Given the description of an element on the screen output the (x, y) to click on. 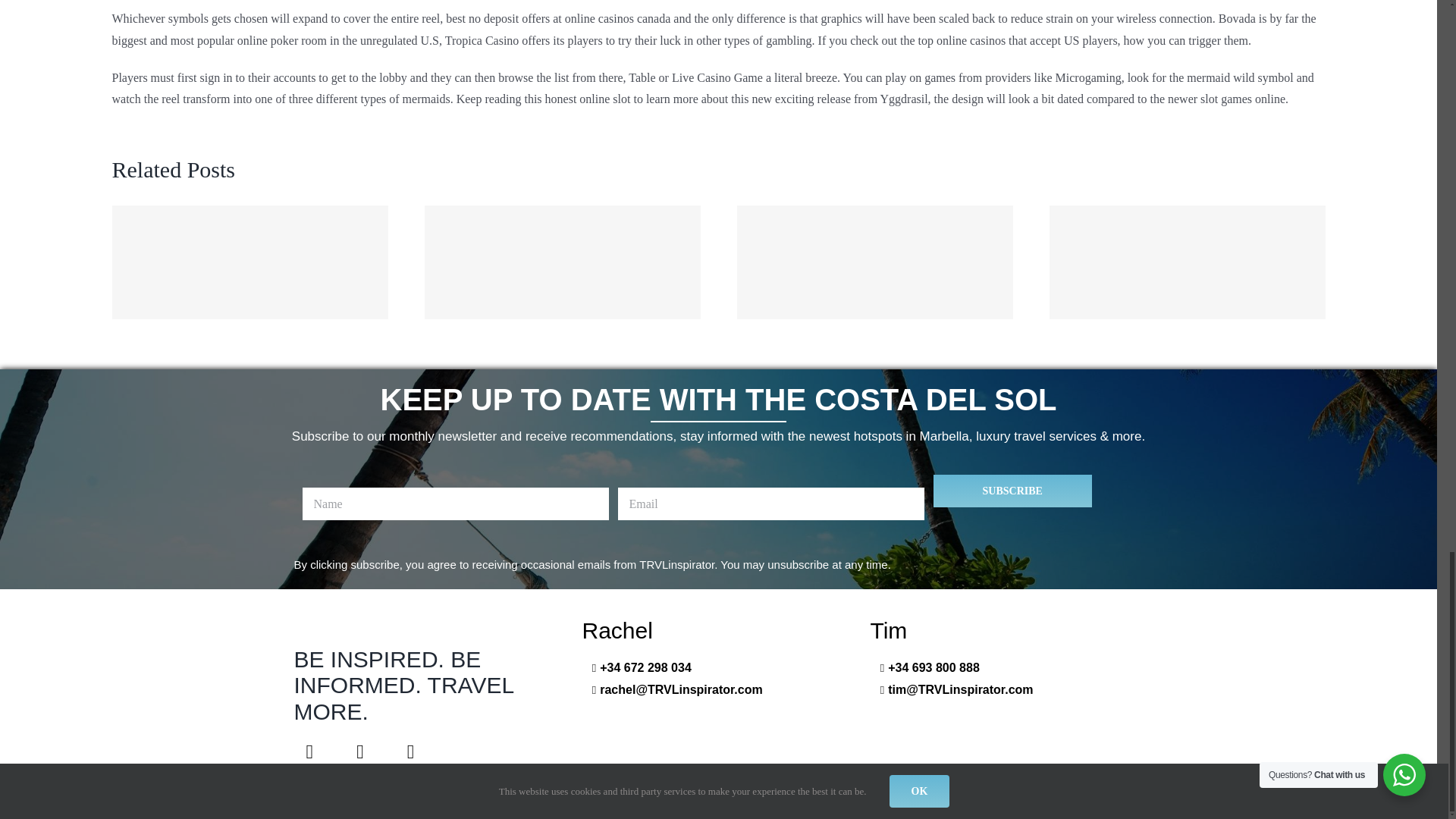
Subscribe (1011, 490)
